Given the description of an element on the screen output the (x, y) to click on. 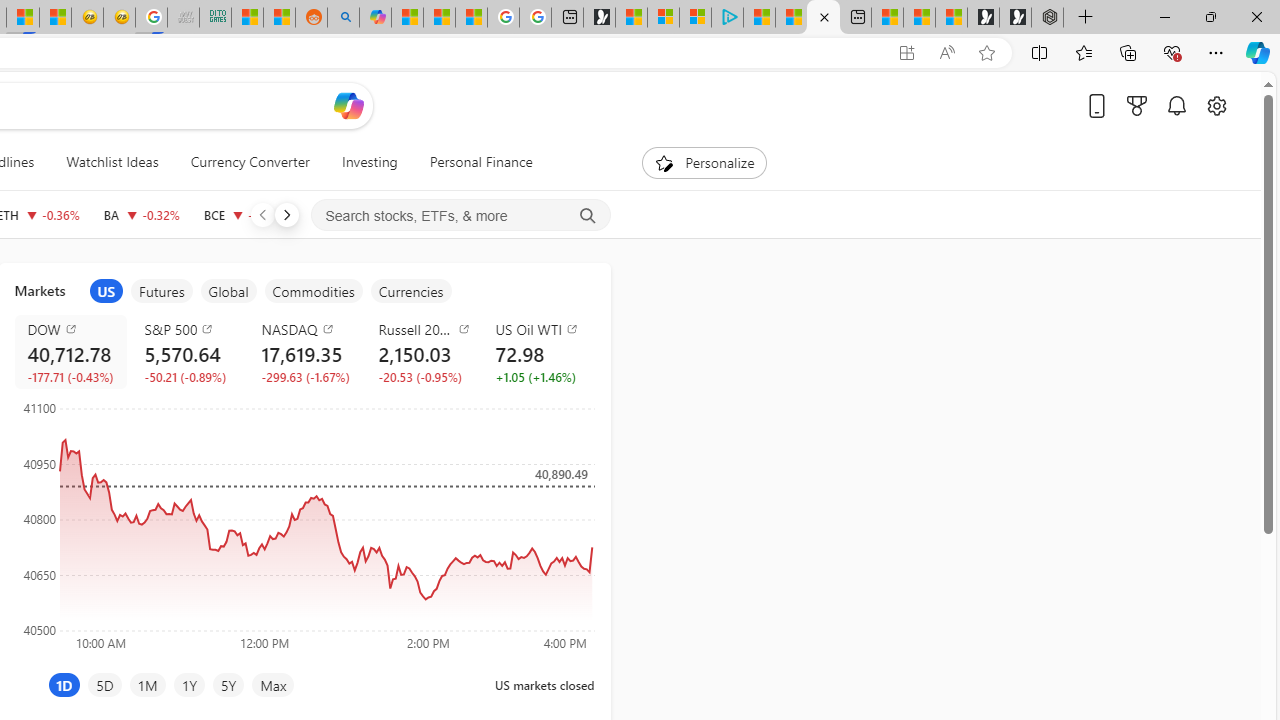
NASDAQ (307, 328)
Microsoft account | Privacy (694, 17)
DOW DJI decrease 40,712.78 -177.71 -0.43% (70, 351)
Class: recharts-surface (304, 524)
Investing (369, 162)
Split screen (1039, 52)
Nordace - Nordace Siena Is Not An Ordinary Backpack (1047, 17)
Navy Quest (182, 17)
BCE BCE Inc decrease 34.55 -0.08 -0.22% (244, 214)
Russell 2000 (424, 328)
